Given the description of an element on the screen output the (x, y) to click on. 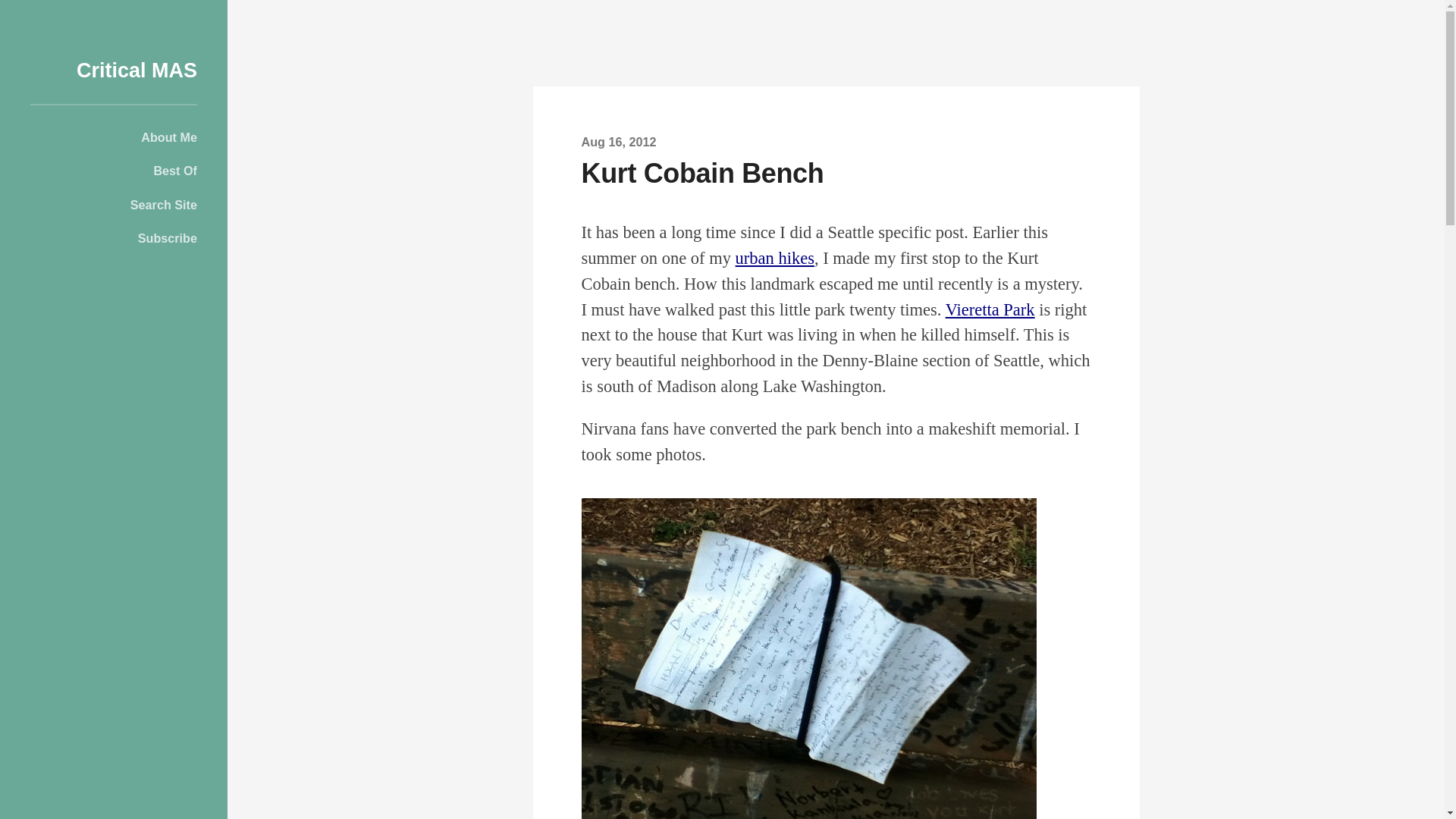
Subscribe (113, 238)
Aug 16, 2012 (618, 141)
About Me (113, 136)
Critical MAS (136, 69)
urban hikes (774, 257)
Best Of (113, 170)
Search Site (113, 204)
Vieretta Park (989, 309)
